Given the description of an element on the screen output the (x, y) to click on. 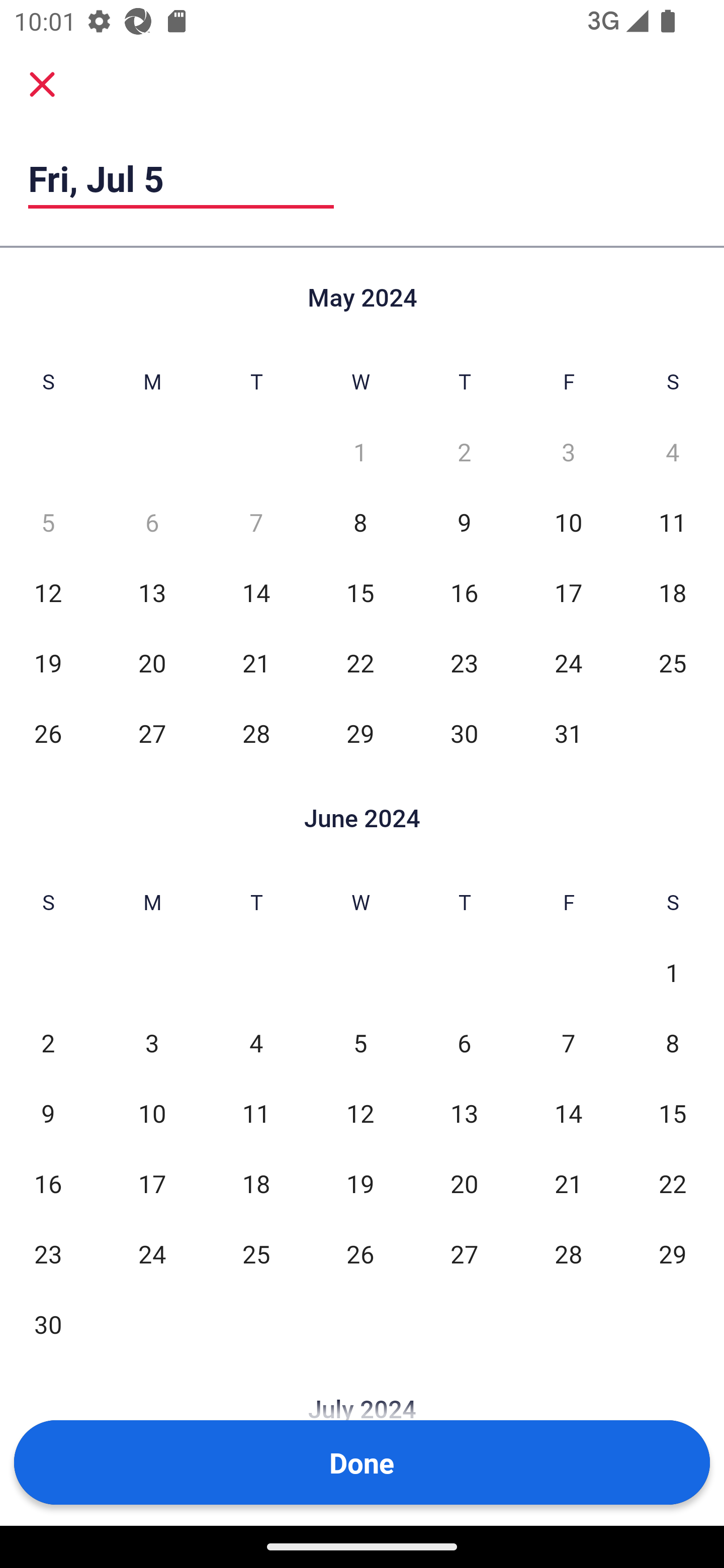
Cancel (41, 83)
Fri, Jul 5 (180, 178)
1 Wed, May 1, Not Selected (360, 452)
2 Thu, May 2, Not Selected (464, 452)
3 Fri, May 3, Not Selected (568, 452)
4 Sat, May 4, Not Selected (672, 452)
5 Sun, May 5, Not Selected (48, 521)
6 Mon, May 6, Not Selected (152, 521)
7 Tue, May 7, Not Selected (256, 521)
8 Wed, May 8, Not Selected (360, 521)
9 Thu, May 9, Not Selected (464, 521)
10 Fri, May 10, Not Selected (568, 521)
11 Sat, May 11, Not Selected (672, 521)
12 Sun, May 12, Not Selected (48, 591)
13 Mon, May 13, Not Selected (152, 591)
14 Tue, May 14, Not Selected (256, 591)
15 Wed, May 15, Not Selected (360, 591)
16 Thu, May 16, Not Selected (464, 591)
17 Fri, May 17, Not Selected (568, 591)
18 Sat, May 18, Not Selected (672, 591)
19 Sun, May 19, Not Selected (48, 662)
20 Mon, May 20, Not Selected (152, 662)
21 Tue, May 21, Not Selected (256, 662)
22 Wed, May 22, Not Selected (360, 662)
23 Thu, May 23, Not Selected (464, 662)
24 Fri, May 24, Not Selected (568, 662)
25 Sat, May 25, Not Selected (672, 662)
26 Sun, May 26, Not Selected (48, 732)
27 Mon, May 27, Not Selected (152, 732)
28 Tue, May 28, Not Selected (256, 732)
29 Wed, May 29, Not Selected (360, 732)
30 Thu, May 30, Not Selected (464, 732)
31 Fri, May 31, Not Selected (568, 732)
1 Sat, Jun 1, Not Selected (672, 972)
2 Sun, Jun 2, Not Selected (48, 1043)
3 Mon, Jun 3, Not Selected (152, 1043)
4 Tue, Jun 4, Not Selected (256, 1043)
5 Wed, Jun 5, Not Selected (360, 1043)
6 Thu, Jun 6, Not Selected (464, 1043)
7 Fri, Jun 7, Not Selected (568, 1043)
8 Sat, Jun 8, Not Selected (672, 1043)
9 Sun, Jun 9, Not Selected (48, 1112)
10 Mon, Jun 10, Not Selected (152, 1112)
11 Tue, Jun 11, Not Selected (256, 1112)
12 Wed, Jun 12, Not Selected (360, 1112)
13 Thu, Jun 13, Not Selected (464, 1112)
14 Fri, Jun 14, Not Selected (568, 1112)
15 Sat, Jun 15, Not Selected (672, 1112)
16 Sun, Jun 16, Not Selected (48, 1182)
17 Mon, Jun 17, Not Selected (152, 1182)
18 Tue, Jun 18, Not Selected (256, 1182)
19 Wed, Jun 19, Not Selected (360, 1182)
20 Thu, Jun 20, Not Selected (464, 1182)
21 Fri, Jun 21, Not Selected (568, 1182)
22 Sat, Jun 22, Not Selected (672, 1182)
23 Sun, Jun 23, Not Selected (48, 1253)
24 Mon, Jun 24, Not Selected (152, 1253)
25 Tue, Jun 25, Not Selected (256, 1253)
26 Wed, Jun 26, Not Selected (360, 1253)
27 Thu, Jun 27, Not Selected (464, 1253)
28 Fri, Jun 28, Not Selected (568, 1253)
29 Sat, Jun 29, Not Selected (672, 1253)
30 Sun, Jun 30, Not Selected (48, 1323)
Done Button Done (361, 1462)
